Given the description of an element on the screen output the (x, y) to click on. 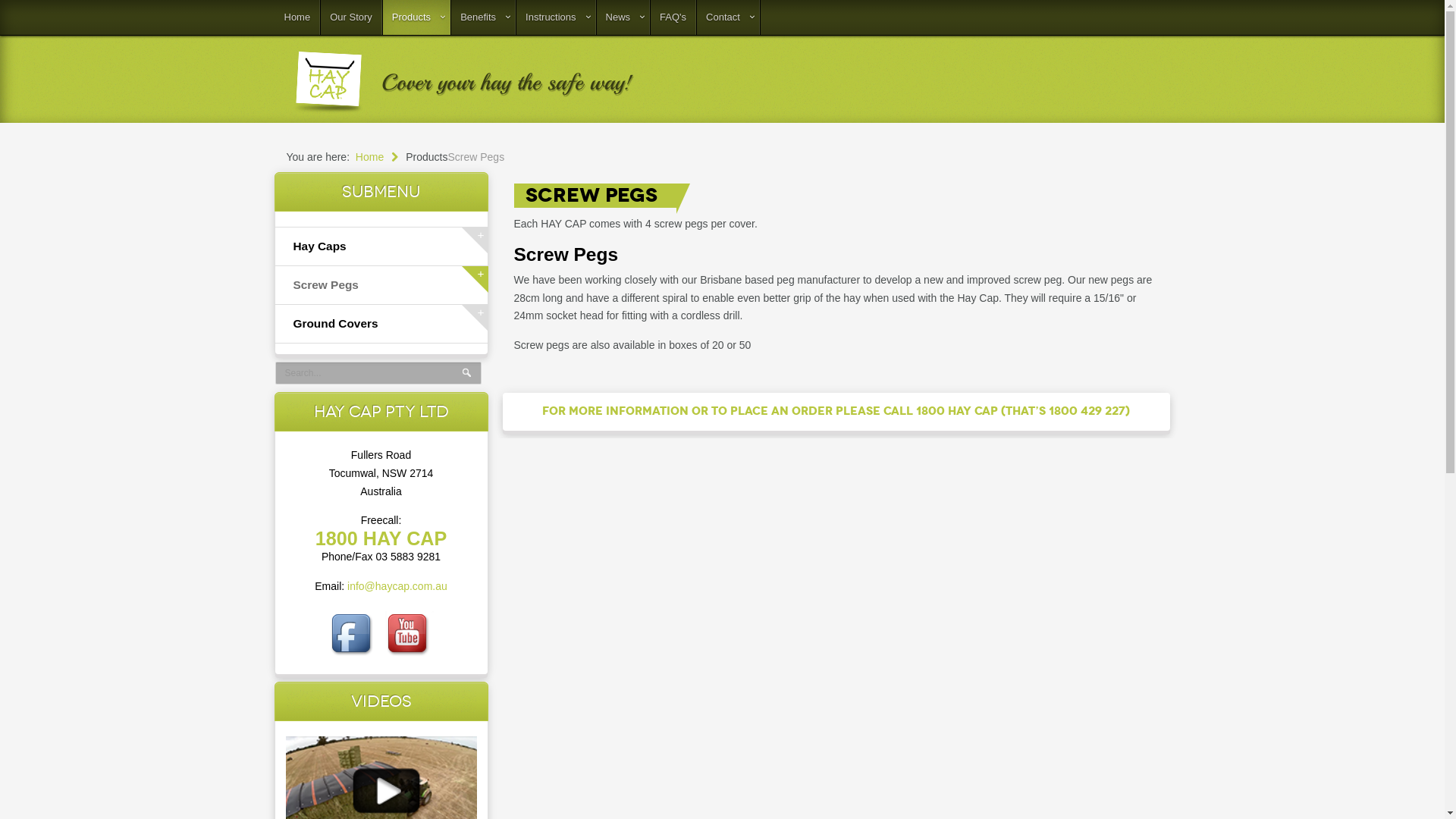
Screw Pegs Element type: text (381, 285)
Products Element type: text (416, 17)
Home Element type: text (380, 156)
News Element type: text (623, 17)
Hay Caps Element type: text (381, 246)
Benefits Element type: text (483, 17)
Our Story Element type: text (351, 17)
Home Element type: text (297, 17)
FAQ's Element type: text (673, 17)
Ground Covers Element type: text (381, 323)
Instructions Element type: text (555, 17)
info@haycap.com.au Element type: text (397, 586)
Contact Element type: text (727, 17)
